Given the description of an element on the screen output the (x, y) to click on. 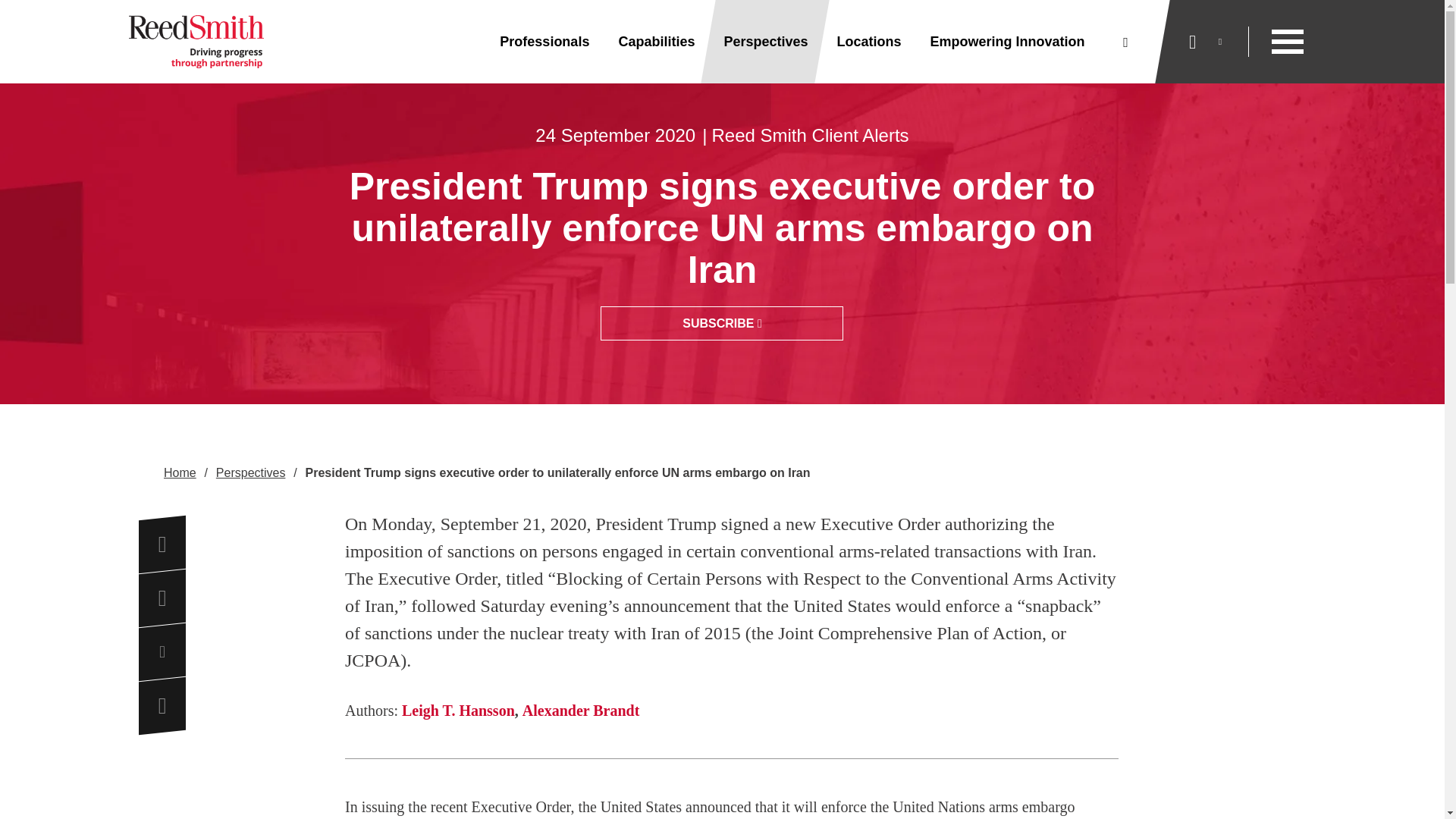
Professionals (544, 41)
Authors: Leigh T. Hansson Alexander Brandt (731, 710)
Capabilities (656, 41)
